Given the description of an element on the screen output the (x, y) to click on. 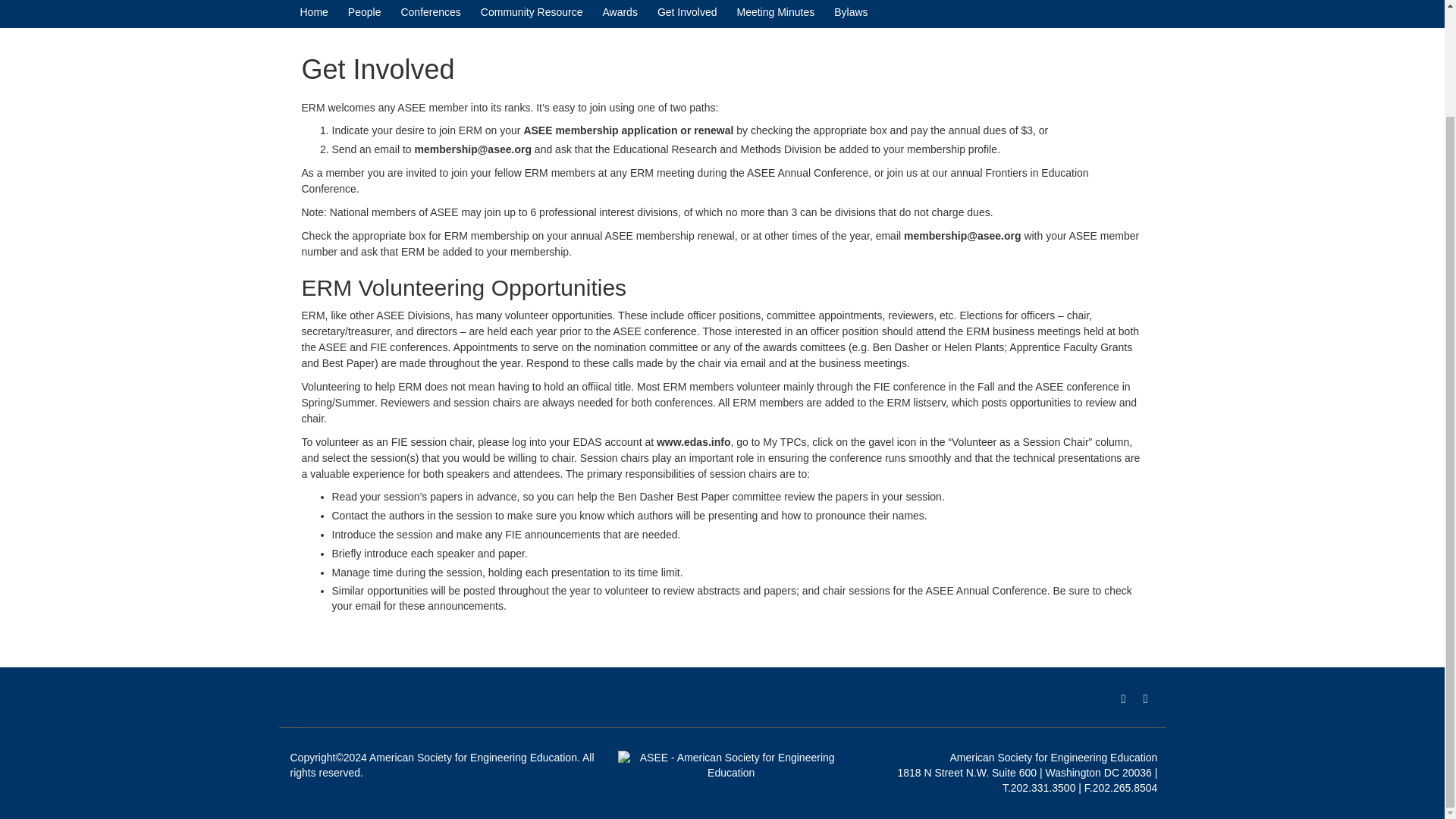
Awards (619, 11)
People (364, 11)
Get Involved (687, 11)
Community Resource (531, 11)
www.edas.info (693, 441)
Bylaws (850, 11)
Meeting Minutes (775, 11)
ASEE membership application or renewal (627, 130)
Conferences (430, 11)
Home (314, 11)
